Given the description of an element on the screen output the (x, y) to click on. 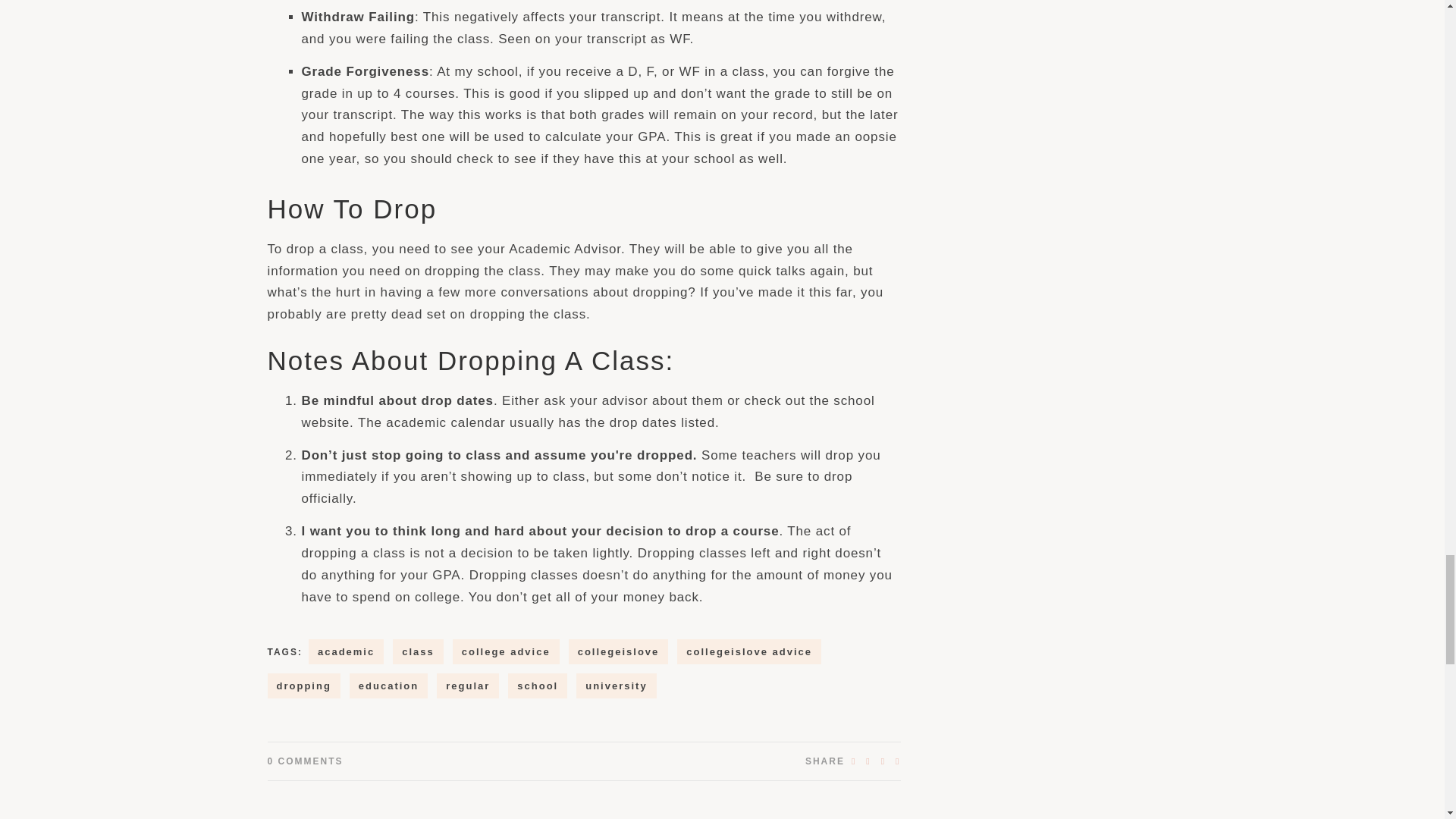
education (388, 685)
collegeislove (618, 651)
regular (467, 685)
university (616, 685)
class (418, 651)
dropping (302, 685)
college advice (505, 651)
0 COMMENTS (304, 760)
collegeislove advice (749, 651)
academic (346, 651)
school (537, 685)
